Given the description of an element on the screen output the (x, y) to click on. 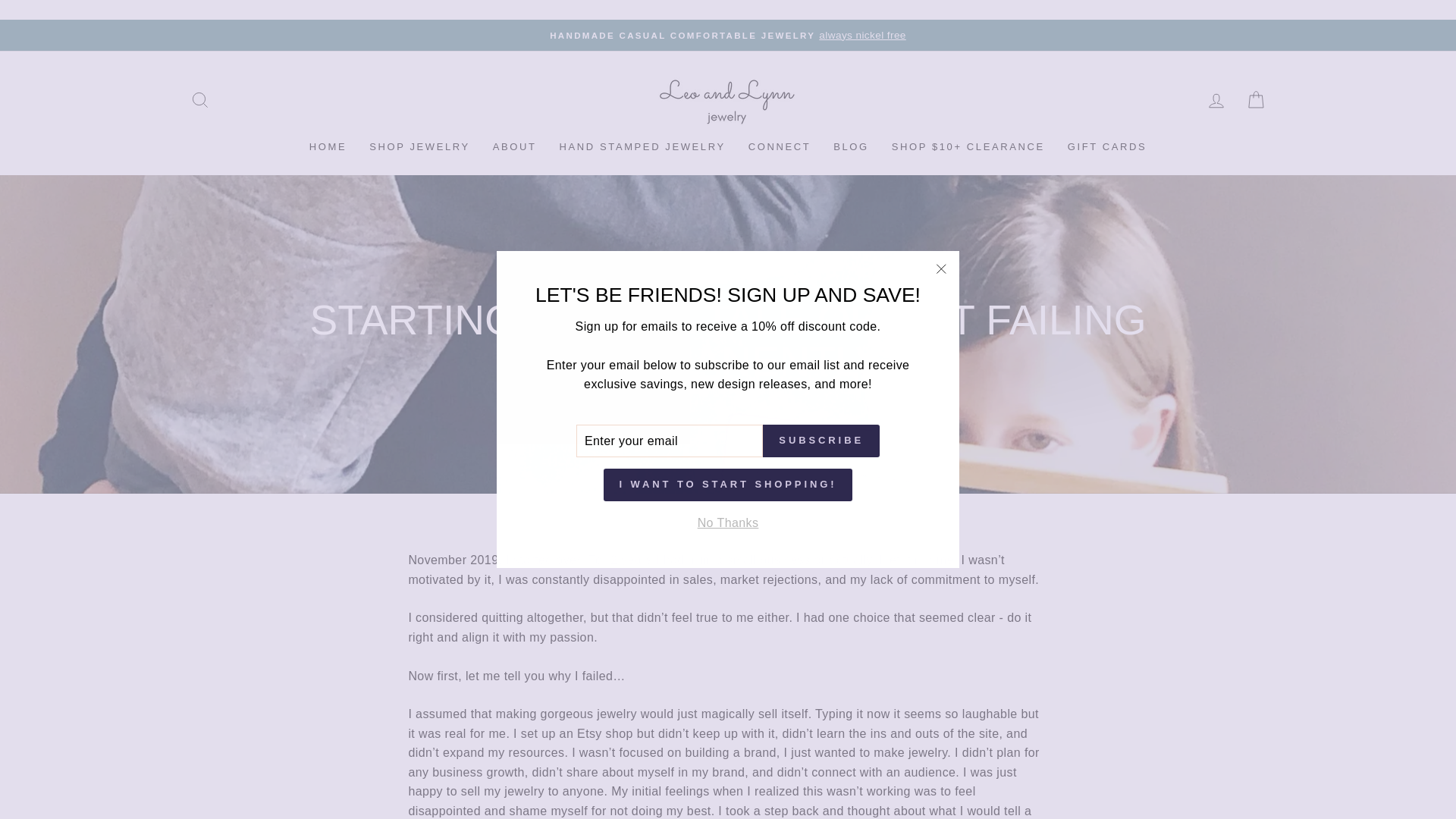
Back to the frontpage (669, 256)
